Given the description of an element on the screen output the (x, y) to click on. 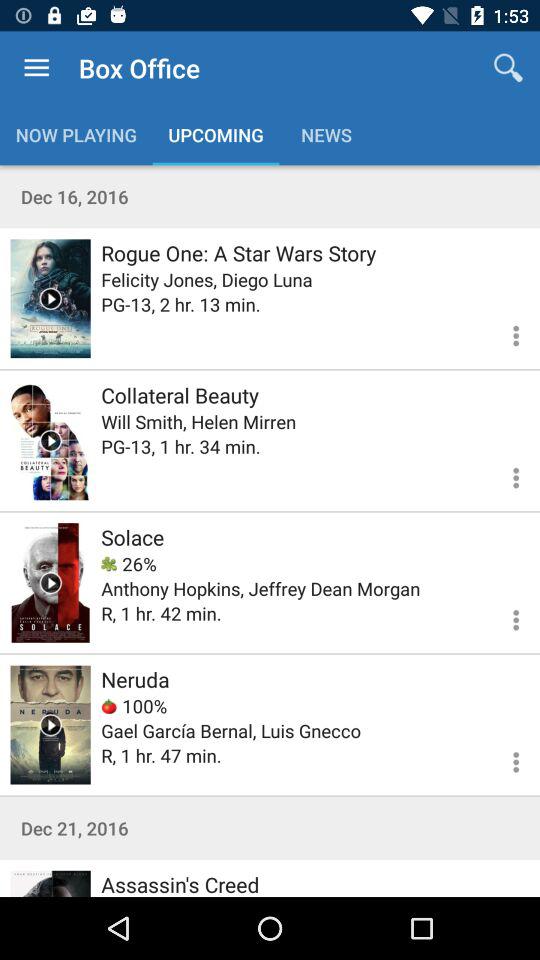
play trailer (50, 724)
